Given the description of an element on the screen output the (x, y) to click on. 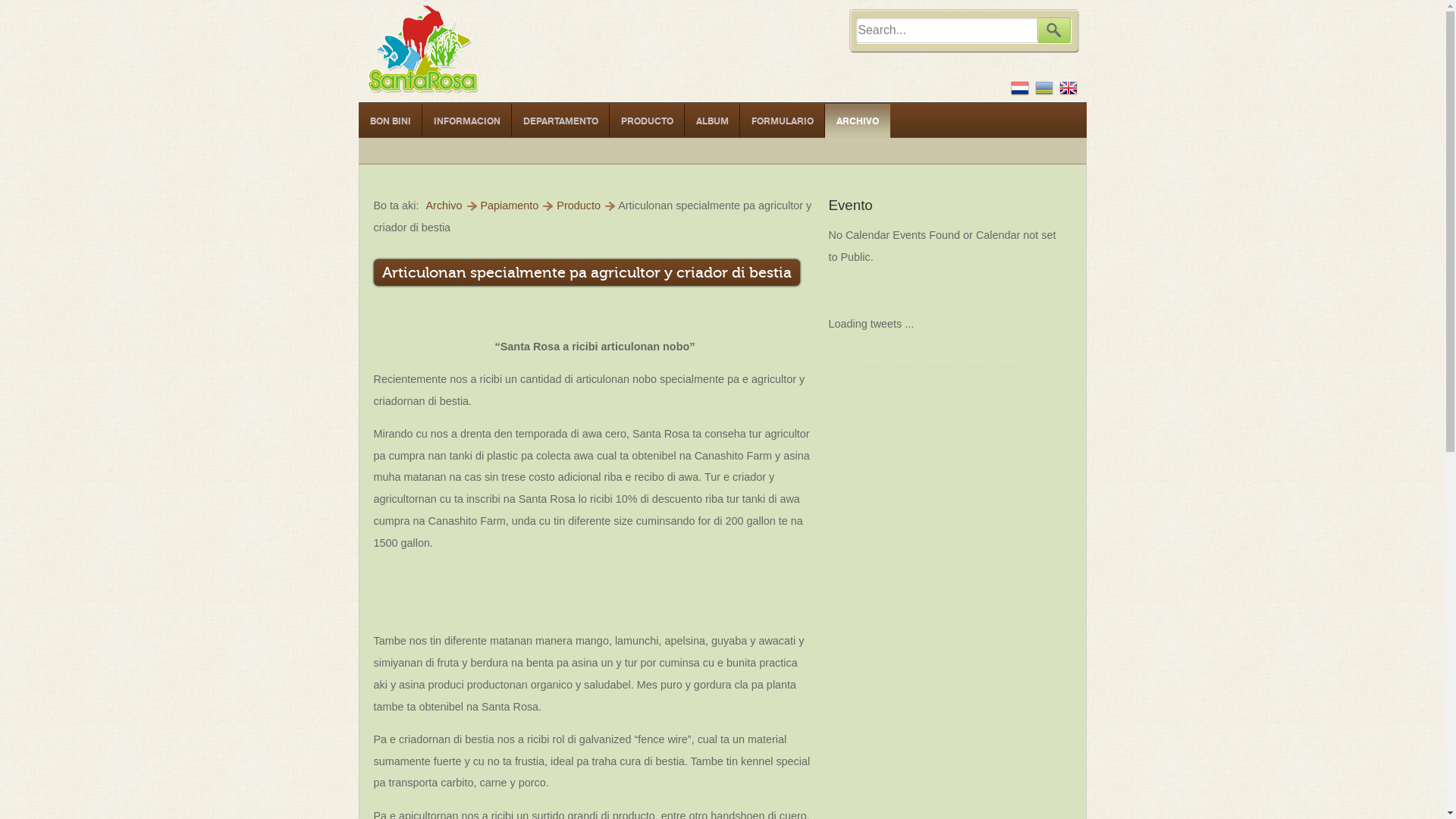
Search Element type: text (1053, 30)
Papiamento Element type: text (509, 205)
DEPARTAMENTO Element type: text (559, 121)
PRODUCTO Element type: text (646, 121)
ALBUM Element type: text (711, 121)
FORMULARIO Element type: text (782, 121)
English (UK) Element type: hover (1067, 87)
Nederlands Element type: hover (1019, 87)
INFORMACION Element type: text (466, 121)
Producto Element type: text (578, 205)
Archivo Element type: text (444, 205)
Papiamento Element type: hover (1043, 87)
BON BINI Element type: text (389, 121)
ARCHIVO Element type: text (857, 121)
